Given the description of an element on the screen output the (x, y) to click on. 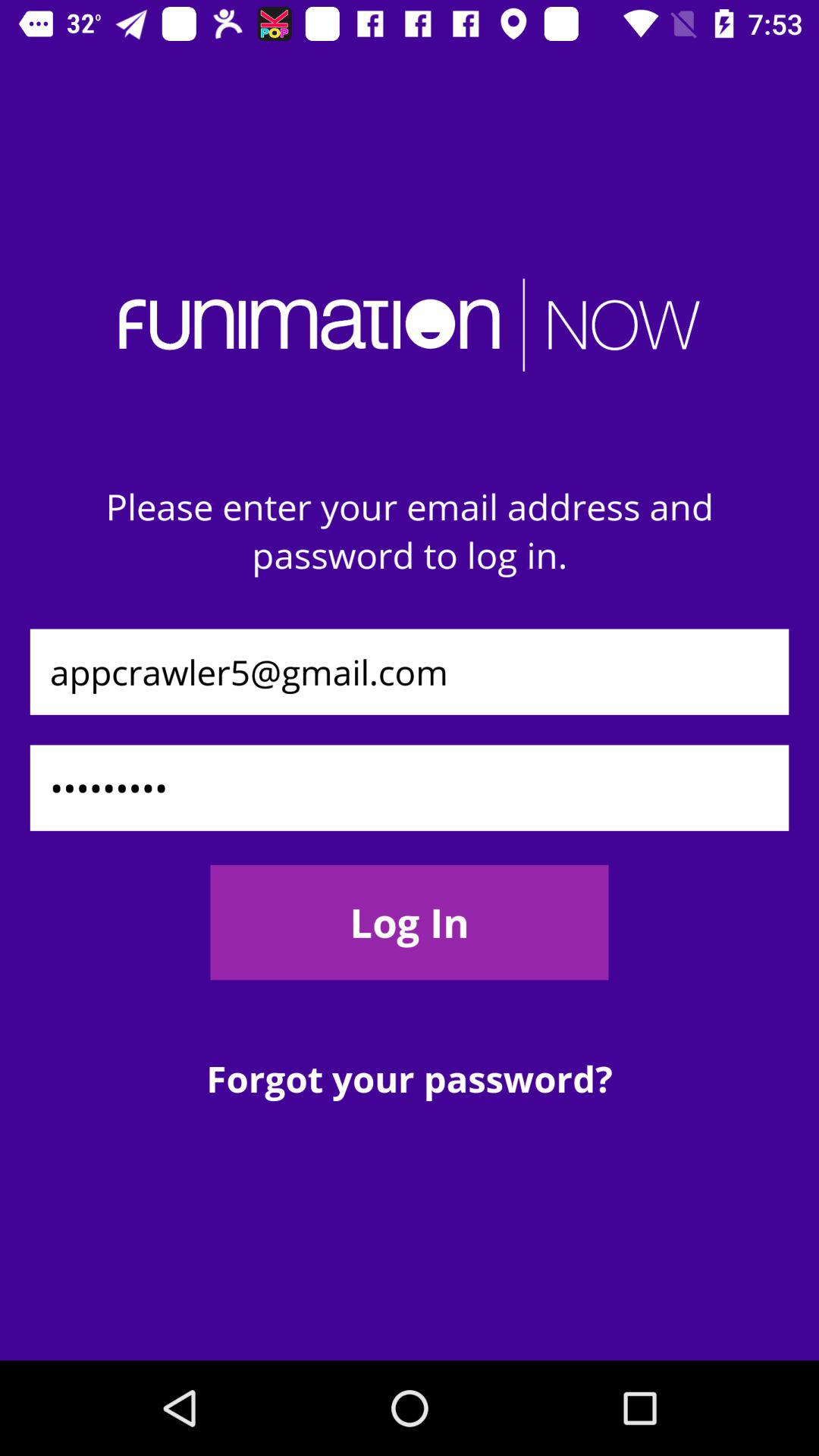
swipe to crowd3116 icon (409, 787)
